Given the description of an element on the screen output the (x, y) to click on. 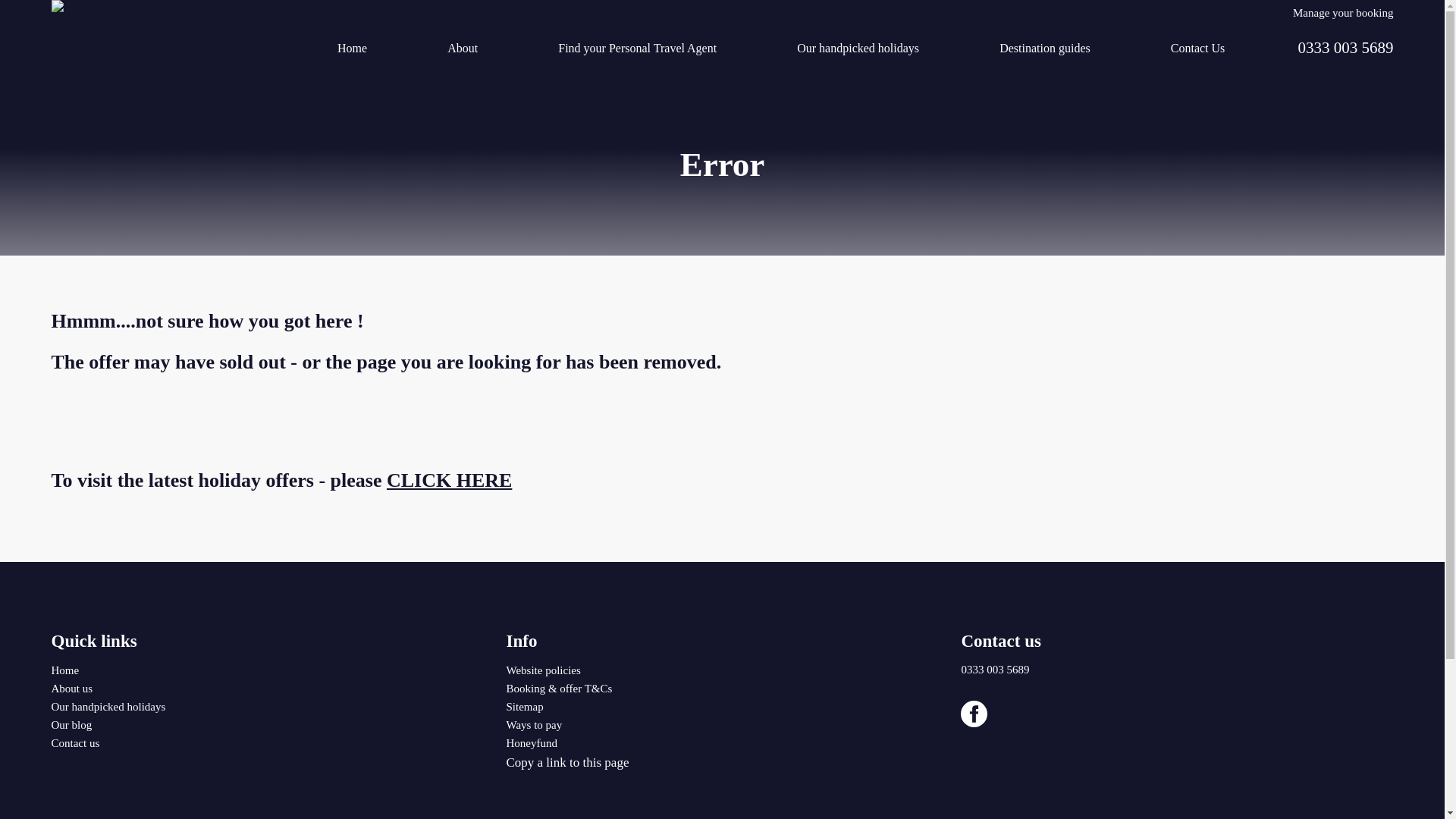
Home (352, 49)
Destination guides (1044, 49)
Manage your booking (1342, 9)
Find your Personal Travel Agent (636, 49)
About (461, 49)
Our handpicked holidays (857, 49)
